Given the description of an element on the screen output the (x, y) to click on. 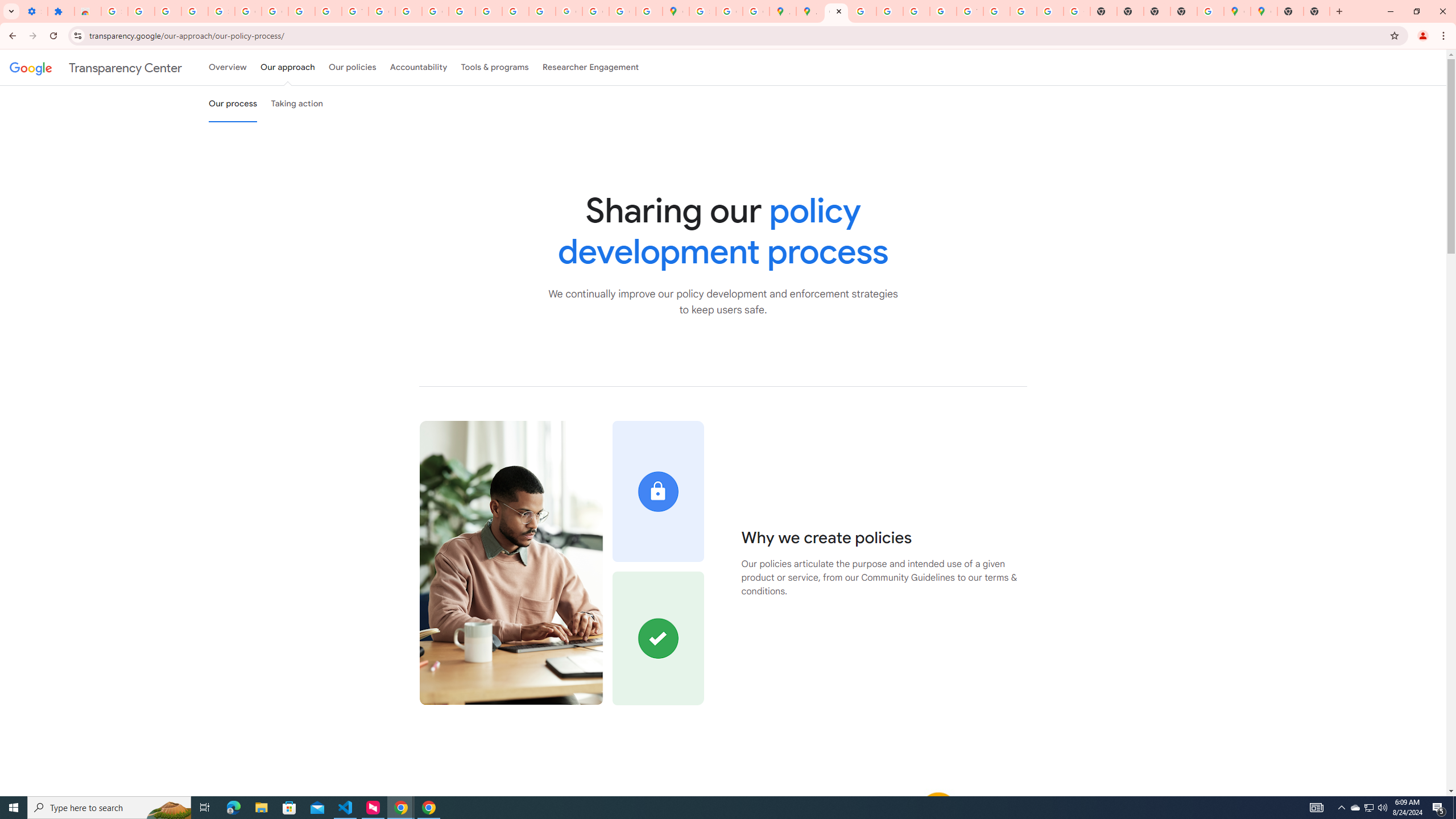
Sign in - Google Accounts (221, 11)
https://scholar.google.com/ (408, 11)
Our policies (351, 67)
